Given the description of an element on the screen output the (x, y) to click on. 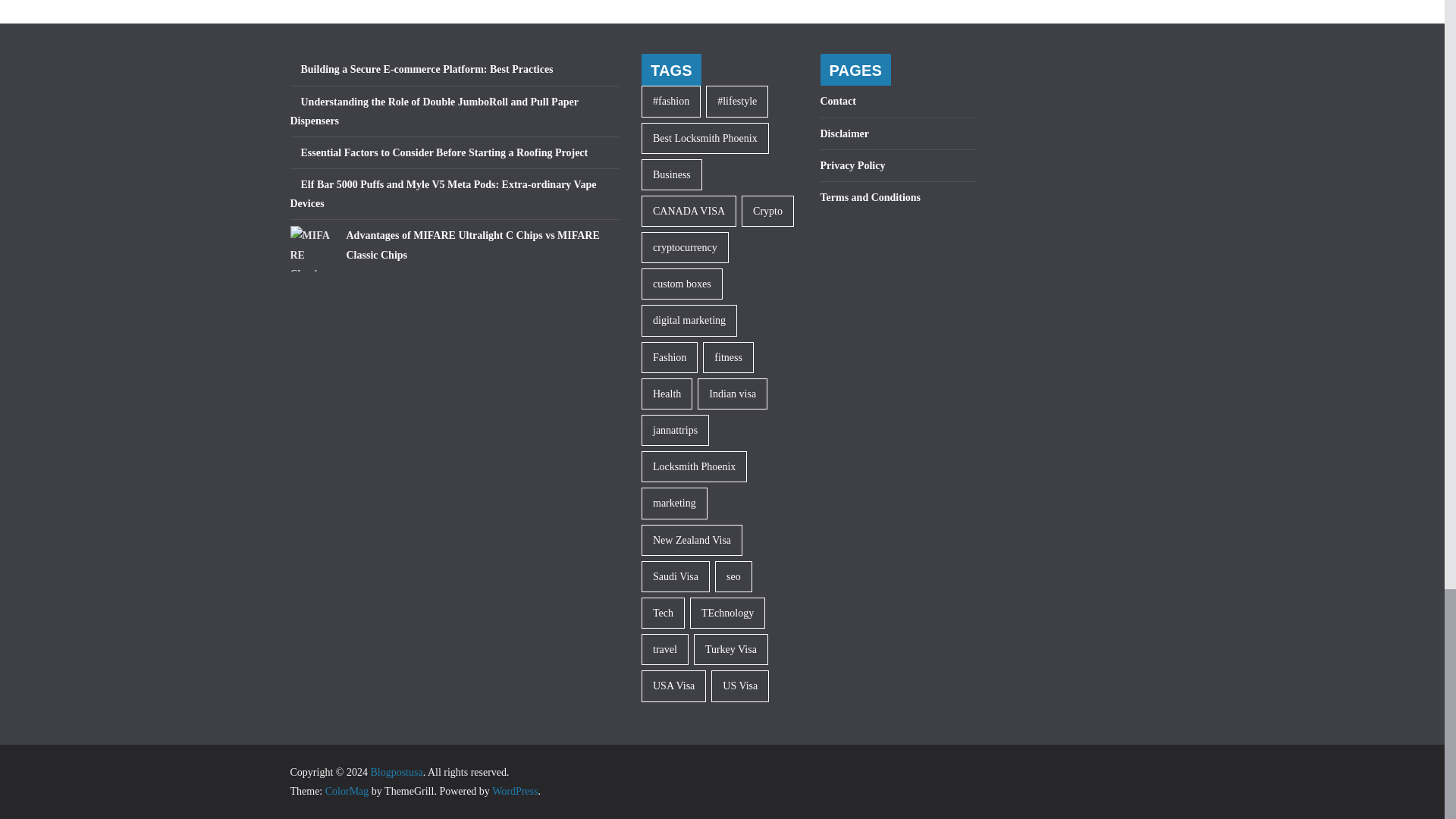
WordPress (514, 790)
Blogpostusa (395, 772)
ColorMag (346, 790)
